Given the description of an element on the screen output the (x, y) to click on. 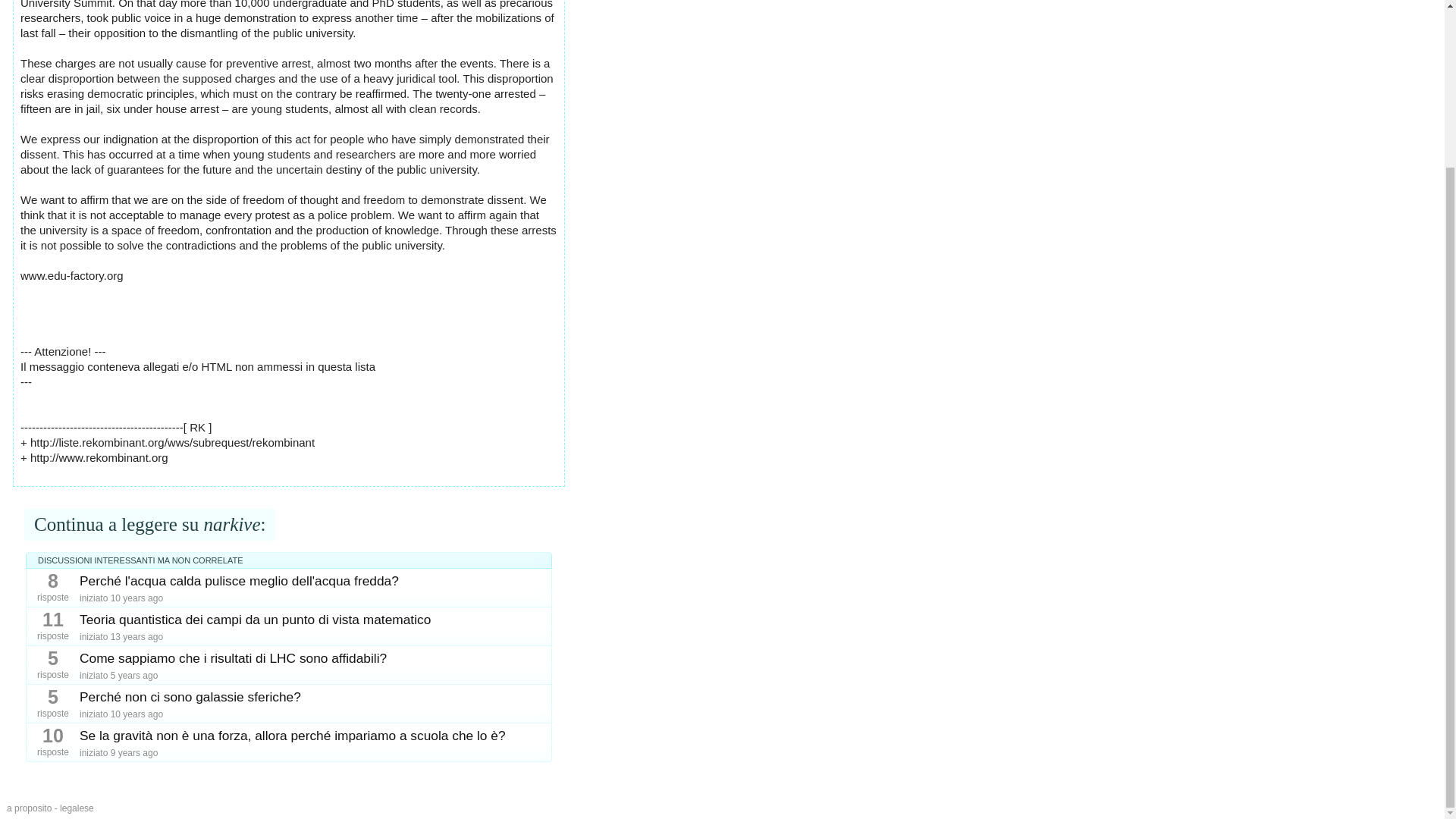
a proposito (28, 808)
2011-10-09 23:37:04 UTC (136, 636)
2014-05-27 08:41:22 UTC (136, 597)
legalese (76, 808)
2015-11-19 07:40:08 UTC (134, 752)
2019-03-27 09:44:40 UTC (134, 675)
2014-11-23 23:29:40 UTC (136, 714)
